Given the description of an element on the screen output the (x, y) to click on. 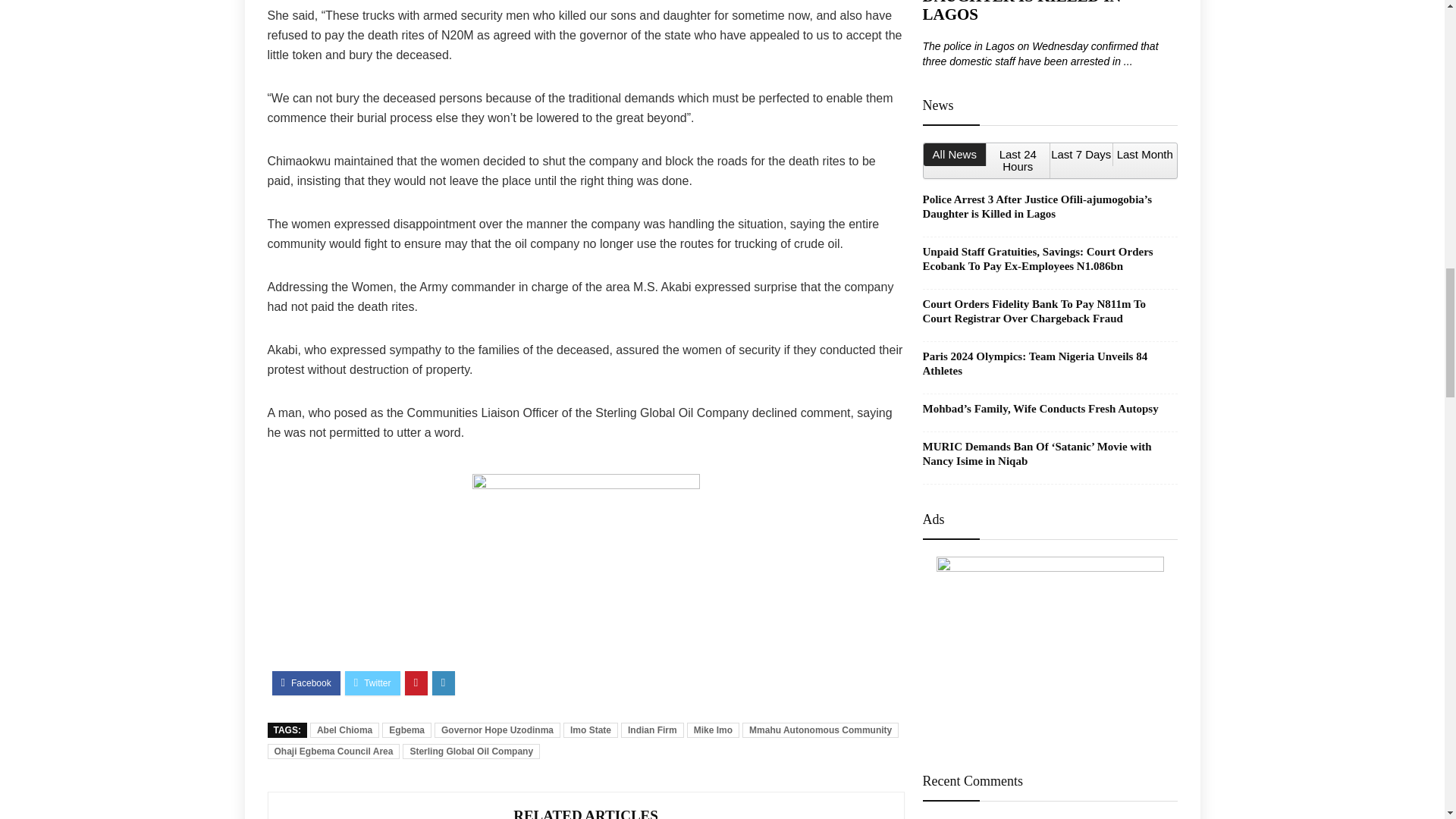
Mmahu Autonomous Community (820, 729)
Governor Hope Uzodinma (496, 729)
Egbema (405, 729)
Mike Imo (713, 729)
Imo State (590, 729)
Abel Chioma (344, 729)
Indian Firm (652, 729)
